Given the description of an element on the screen output the (x, y) to click on. 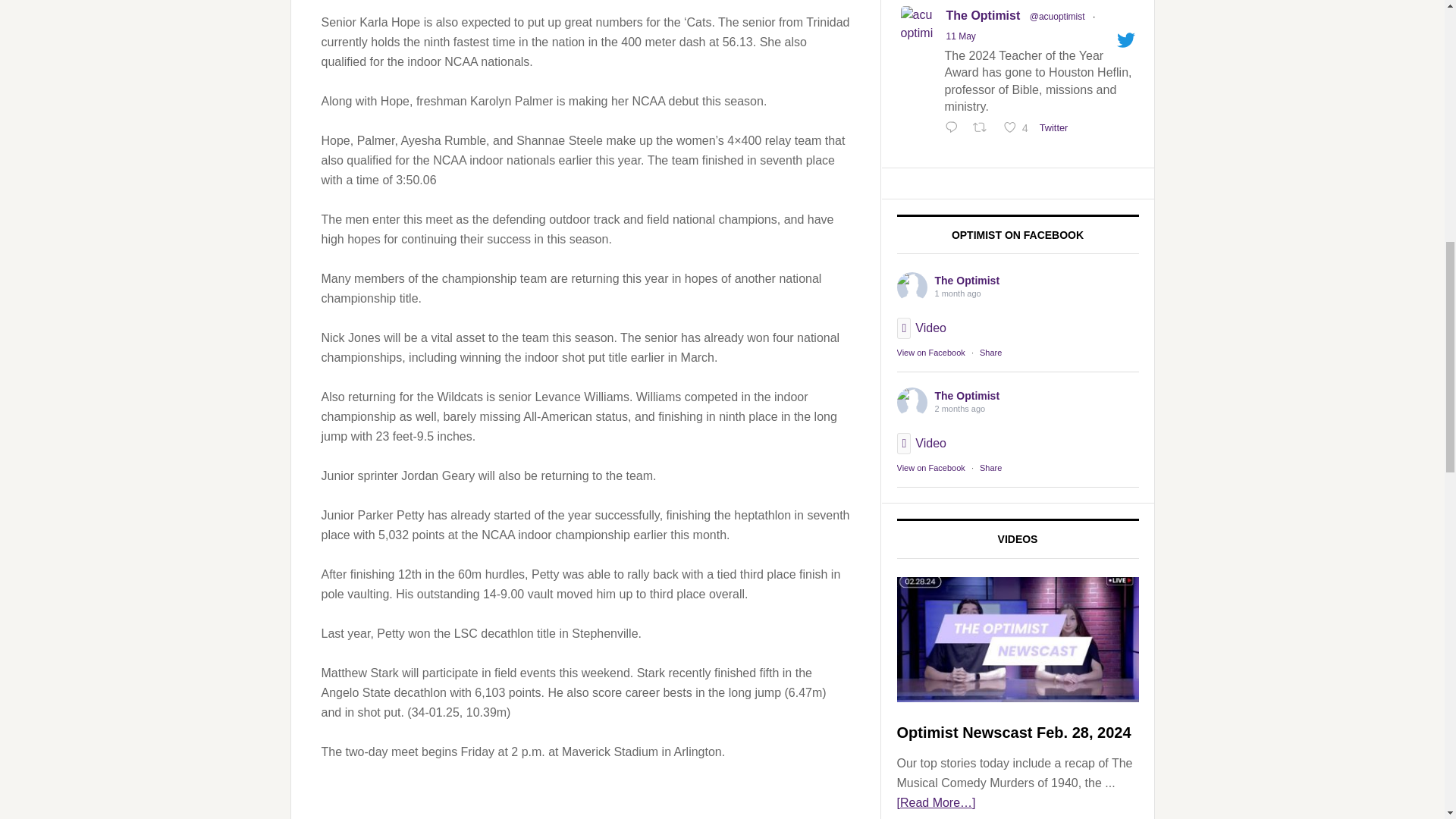
View on Facebook (929, 352)
View on Facebook (929, 467)
Share (990, 467)
The Optimist (911, 402)
Share (990, 352)
The Optimist (911, 286)
